Given the description of an element on the screen output the (x, y) to click on. 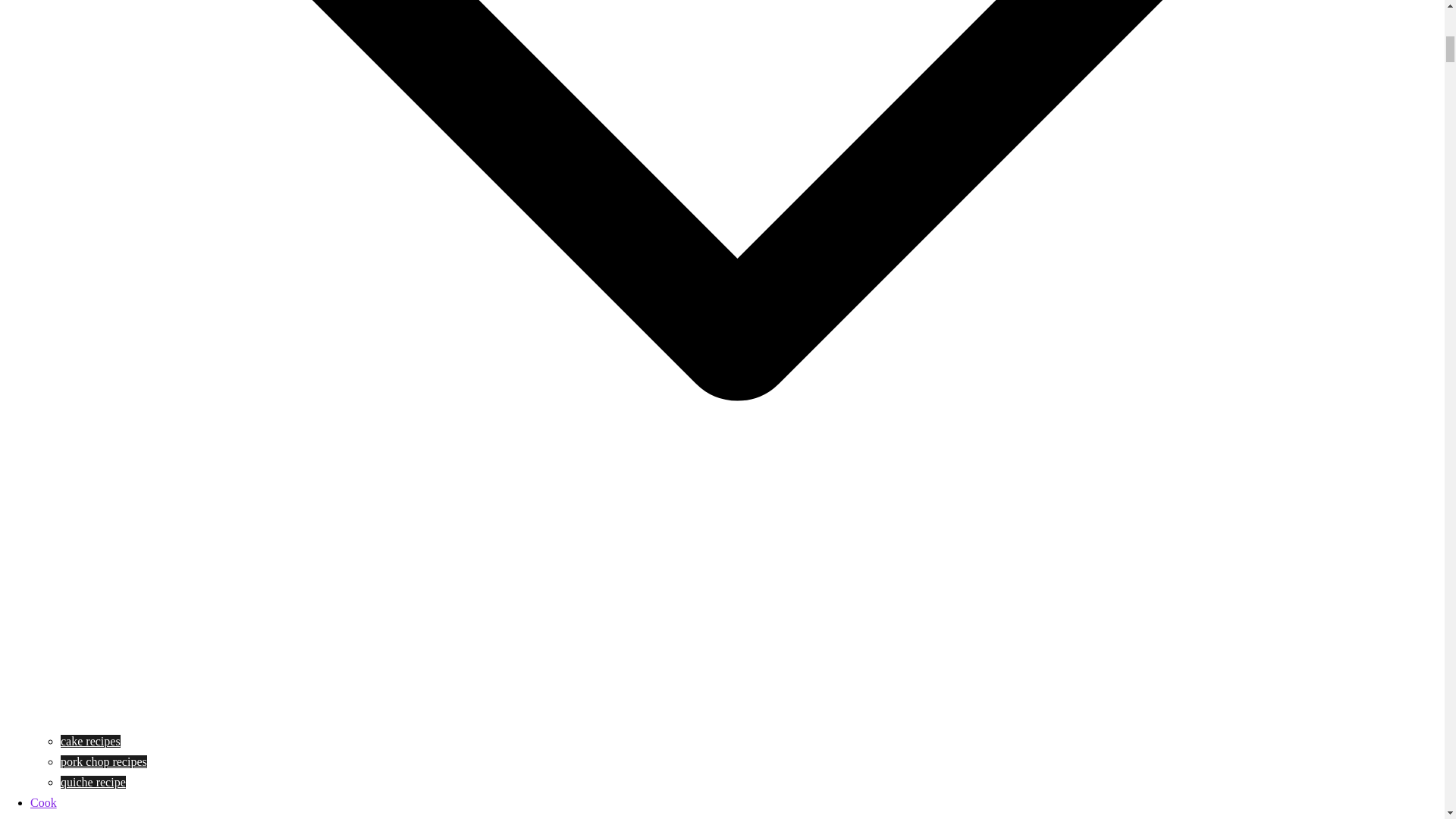
pork chop recipes (104, 761)
quiche recipe (93, 781)
Cook (43, 802)
cake recipes (90, 740)
